Given the description of an element on the screen output the (x, y) to click on. 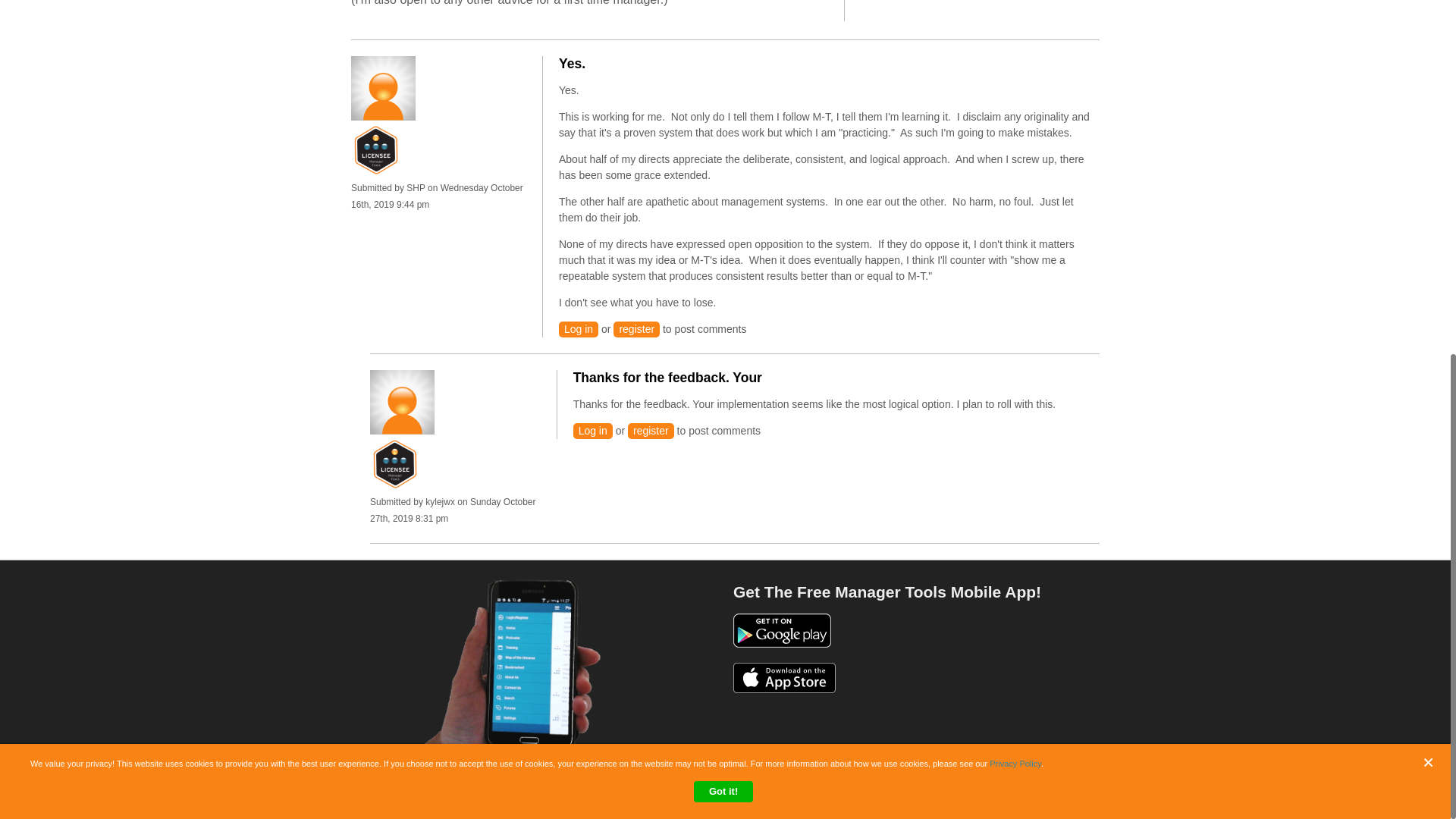
About Cookie Control (37, 145)
Privacy Policy (1015, 138)
Got it! (723, 166)
About Cookie Control (37, 145)
Close (1431, 137)
